Given the description of an element on the screen output the (x, y) to click on. 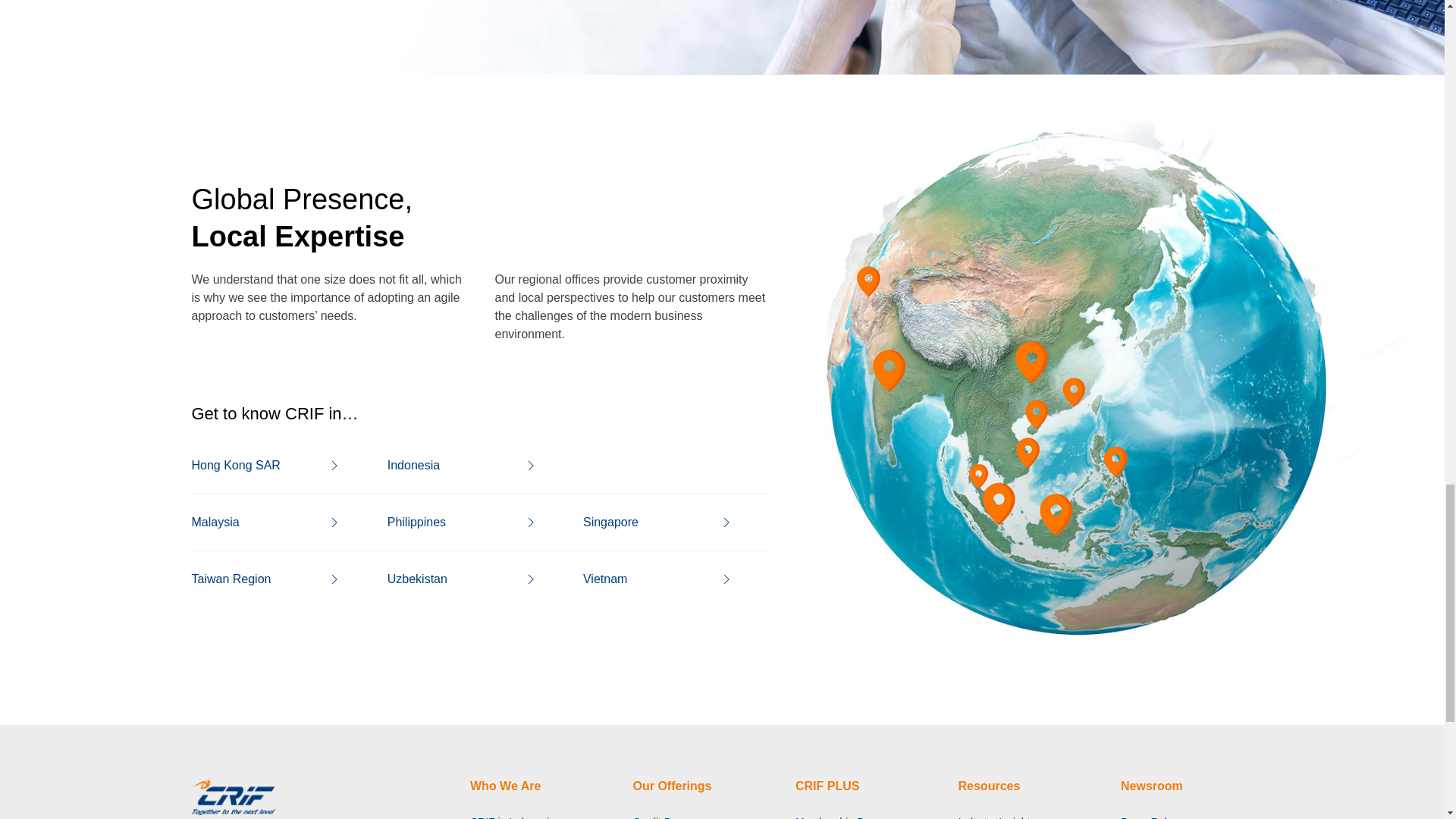
Indonesia (470, 465)
Taiwan Region (273, 579)
Singapore (666, 522)
Hong Kong SAR (273, 465)
Philippines (470, 522)
Malaysia (273, 522)
